Given the description of an element on the screen output the (x, y) to click on. 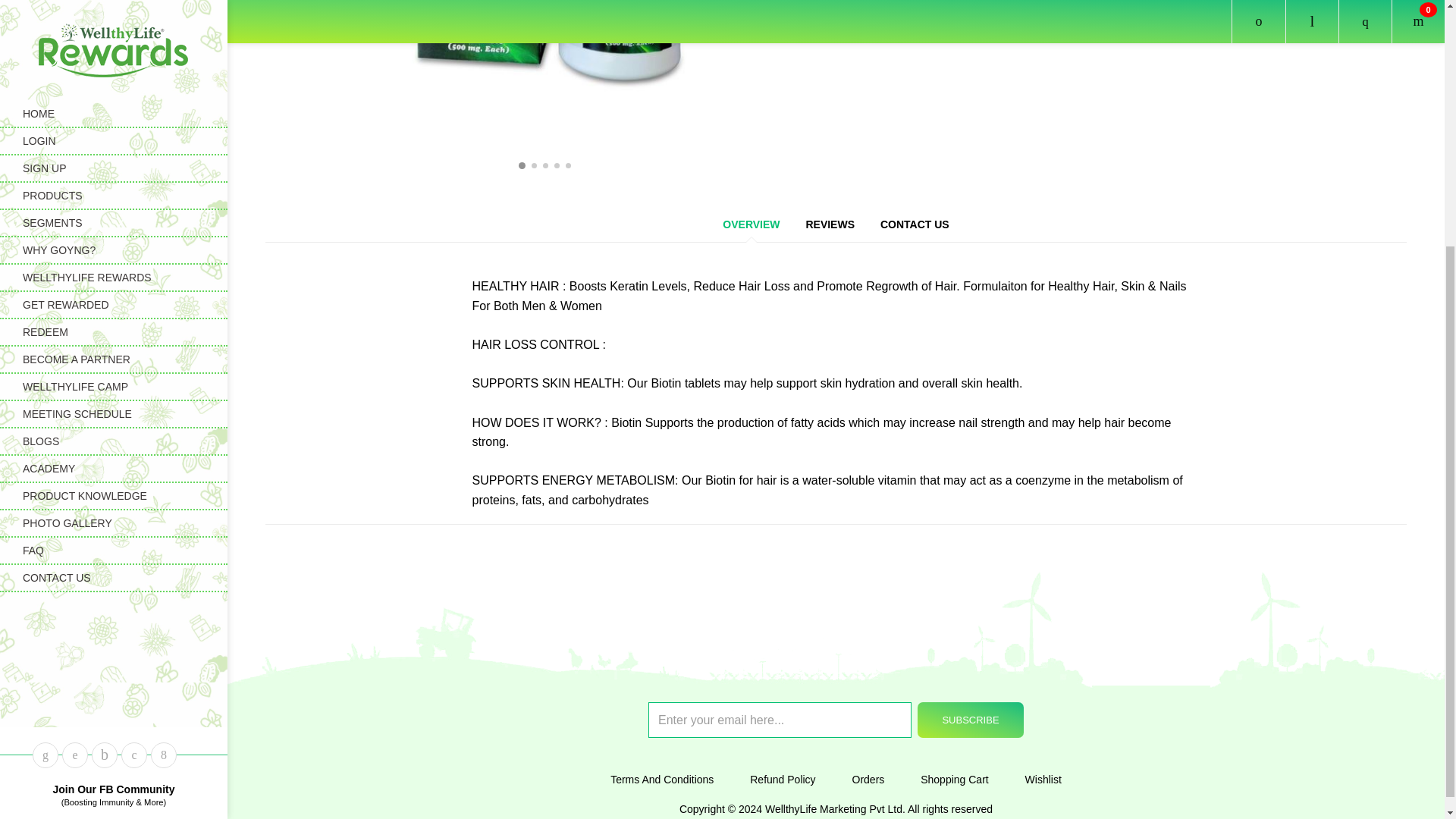
Subscribe (970, 719)
